Given the description of an element on the screen output the (x, y) to click on. 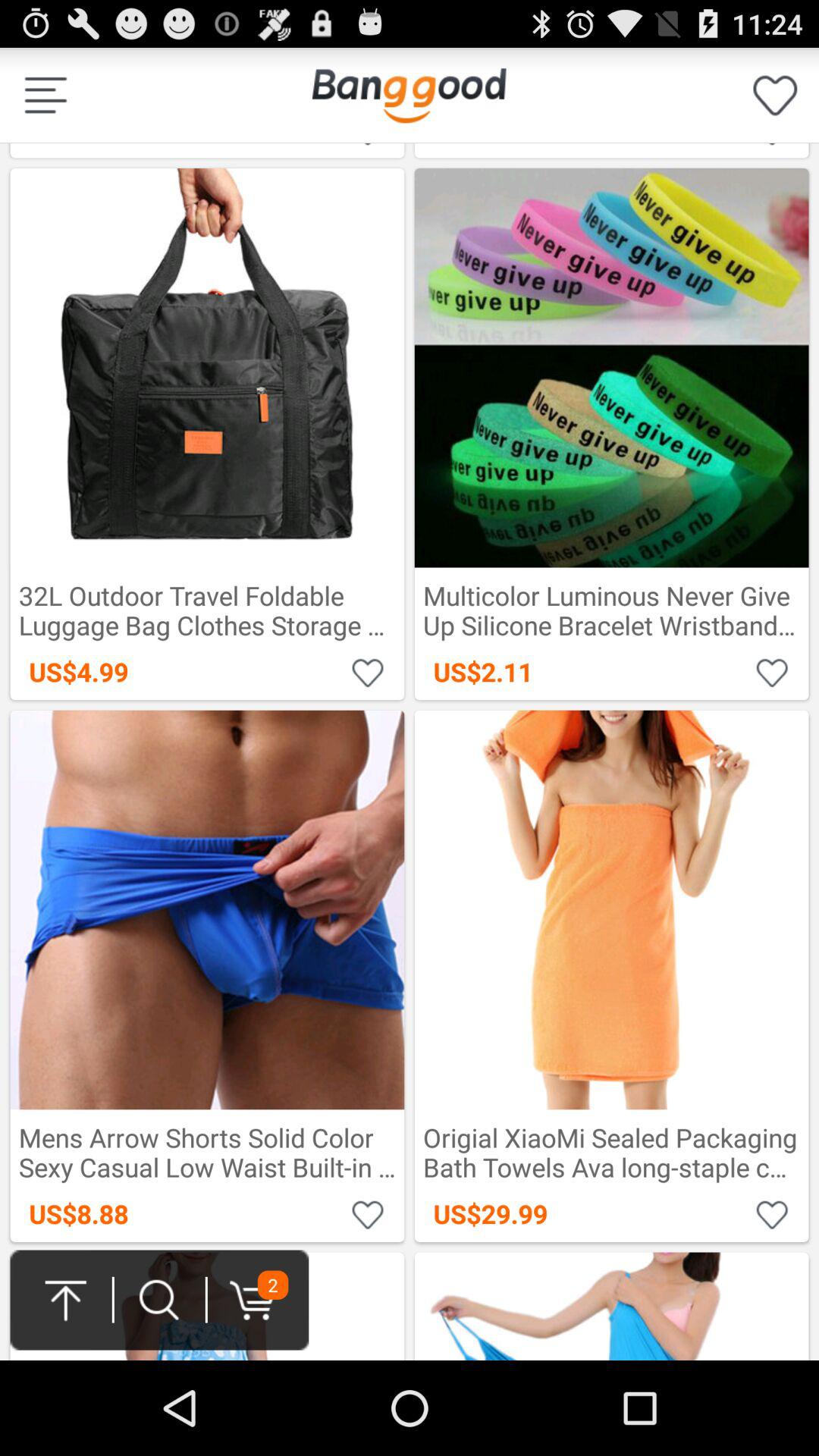
go home (409, 95)
